Given the description of an element on the screen output the (x, y) to click on. 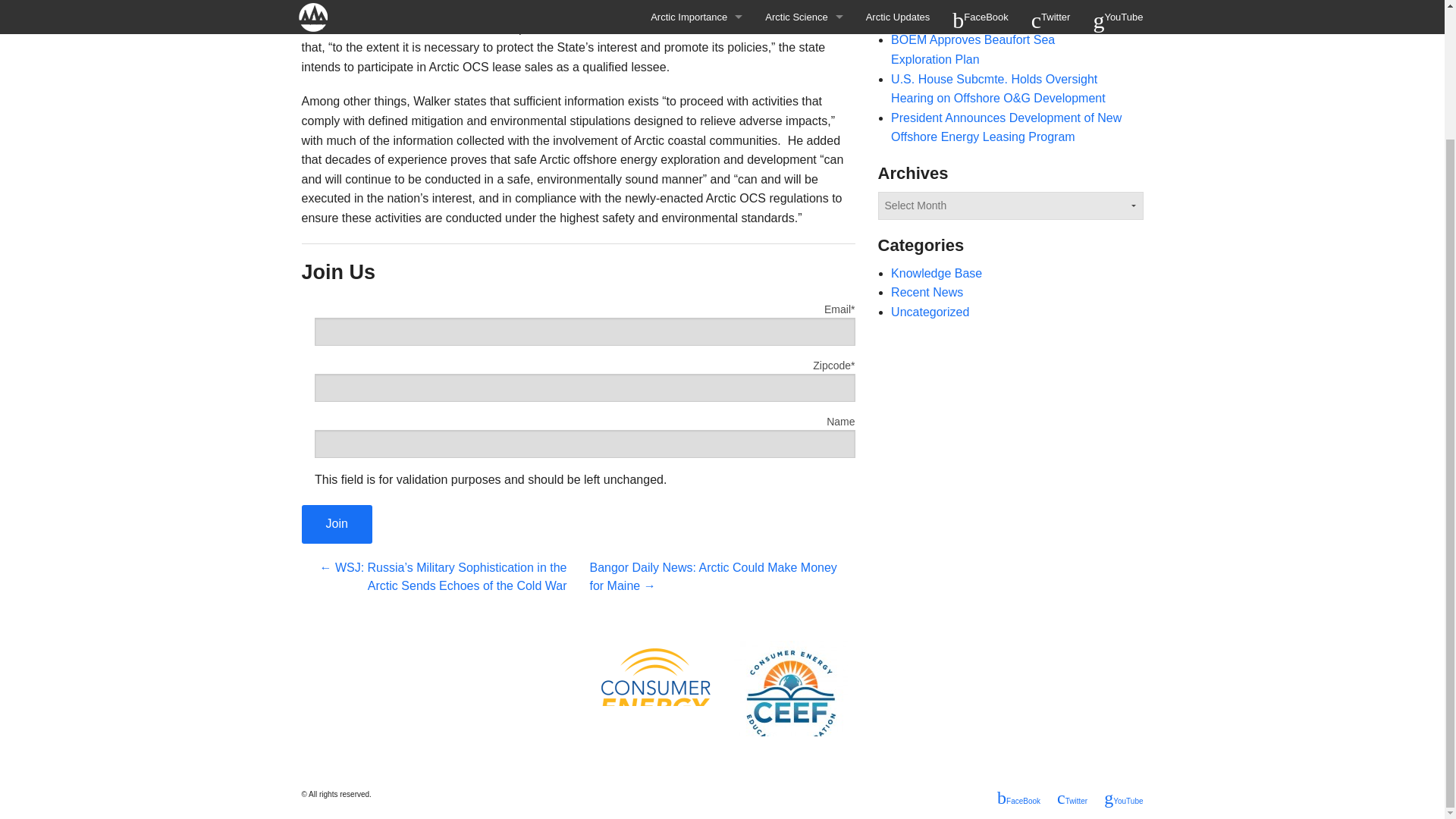
Other Resources (696, 6)
FaceBook (1019, 797)
Knowledge Base (936, 273)
Uncategorized (930, 311)
U.S. Senators Offer Support for Offshore Energy Development (1000, 13)
YouTube (1122, 797)
BOEM Approves Beaufort Sea Exploration Plan (972, 49)
Recent News (926, 291)
Join (336, 524)
